Given the description of an element on the screen output the (x, y) to click on. 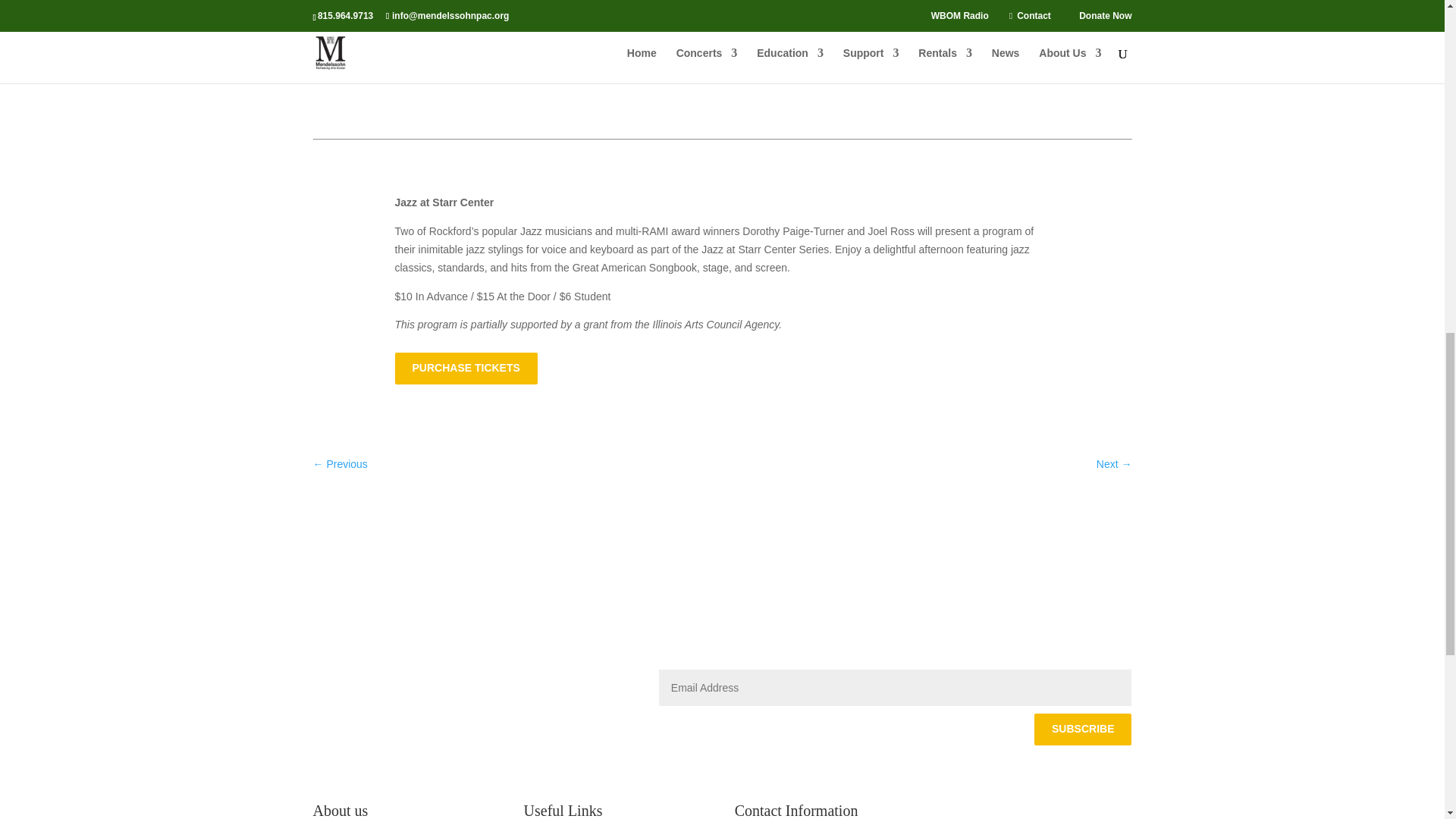
Follow on Instagram (384, 681)
SUBSCRIBE (1082, 729)
MPAC Auditorium (409, 19)
Follow on Facebook (324, 681)
PURCHASE TICKETS (465, 368)
Follow on LinkedIn (354, 681)
